Given the description of an element on the screen output the (x, y) to click on. 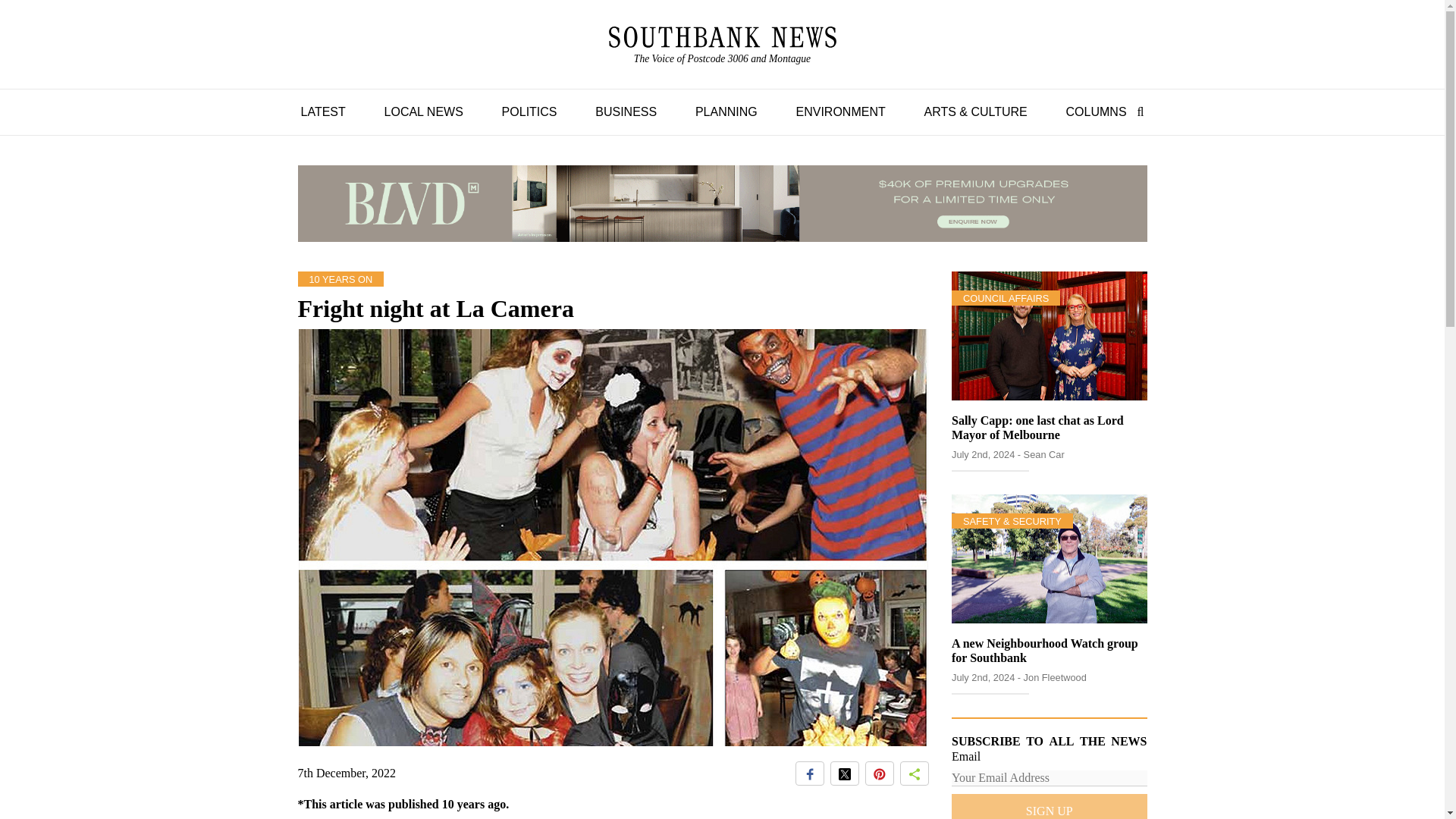
PLANNING (726, 111)
Sally Capp: one last chat as Lord Mayor of Melbourne (1038, 427)
SIGN UP (1049, 806)
10 YEARS ON (340, 278)
Search (1136, 111)
BUSINESS (625, 111)
COUNCIL AFFAIRS (1005, 297)
LOCAL NEWS (423, 111)
LATEST (322, 111)
POLITICS (529, 111)
Southbank News (721, 45)
A new Neighbourhood Watch group for Southbank (721, 36)
COLUMNS (1045, 650)
ENVIRONMENT (1095, 111)
